Given the description of an element on the screen output the (x, y) to click on. 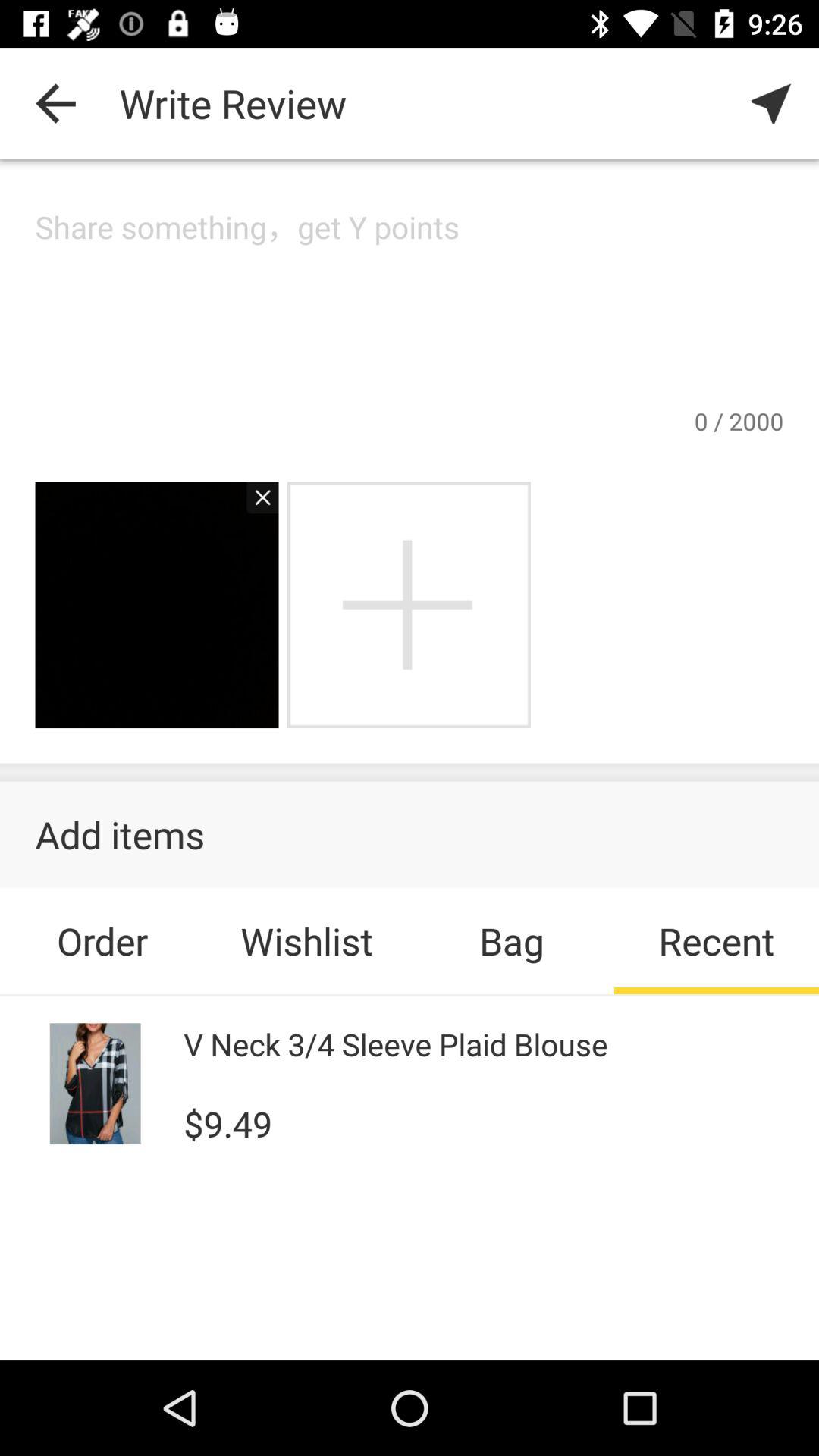
enter cursor in box (409, 304)
